Given the description of an element on the screen output the (x, y) to click on. 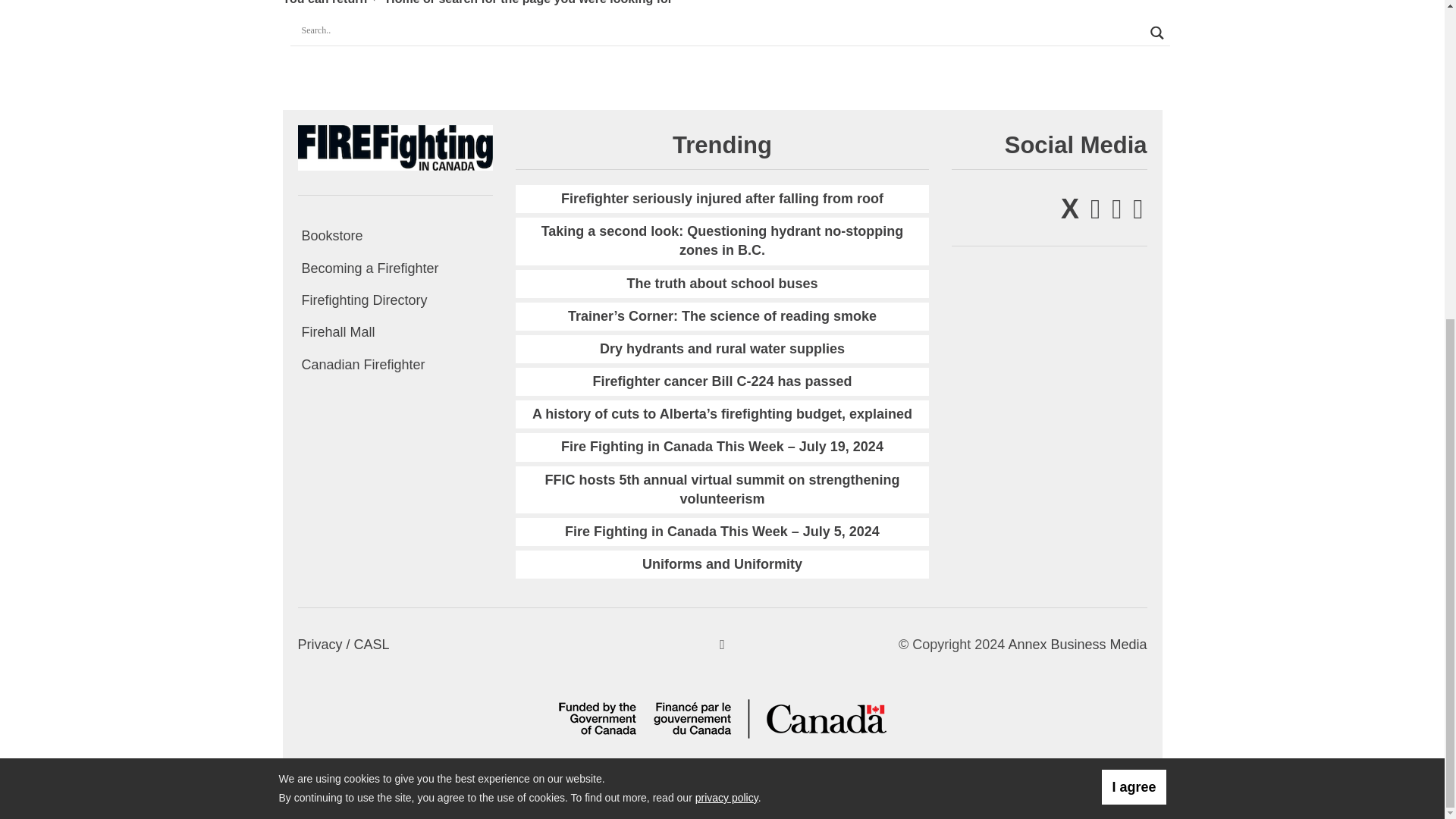
Home (395, 2)
3rd party ad content (133, 52)
Fire Fighting in Canada (395, 146)
Annex Business Media (1077, 644)
